Given the description of an element on the screen output the (x, y) to click on. 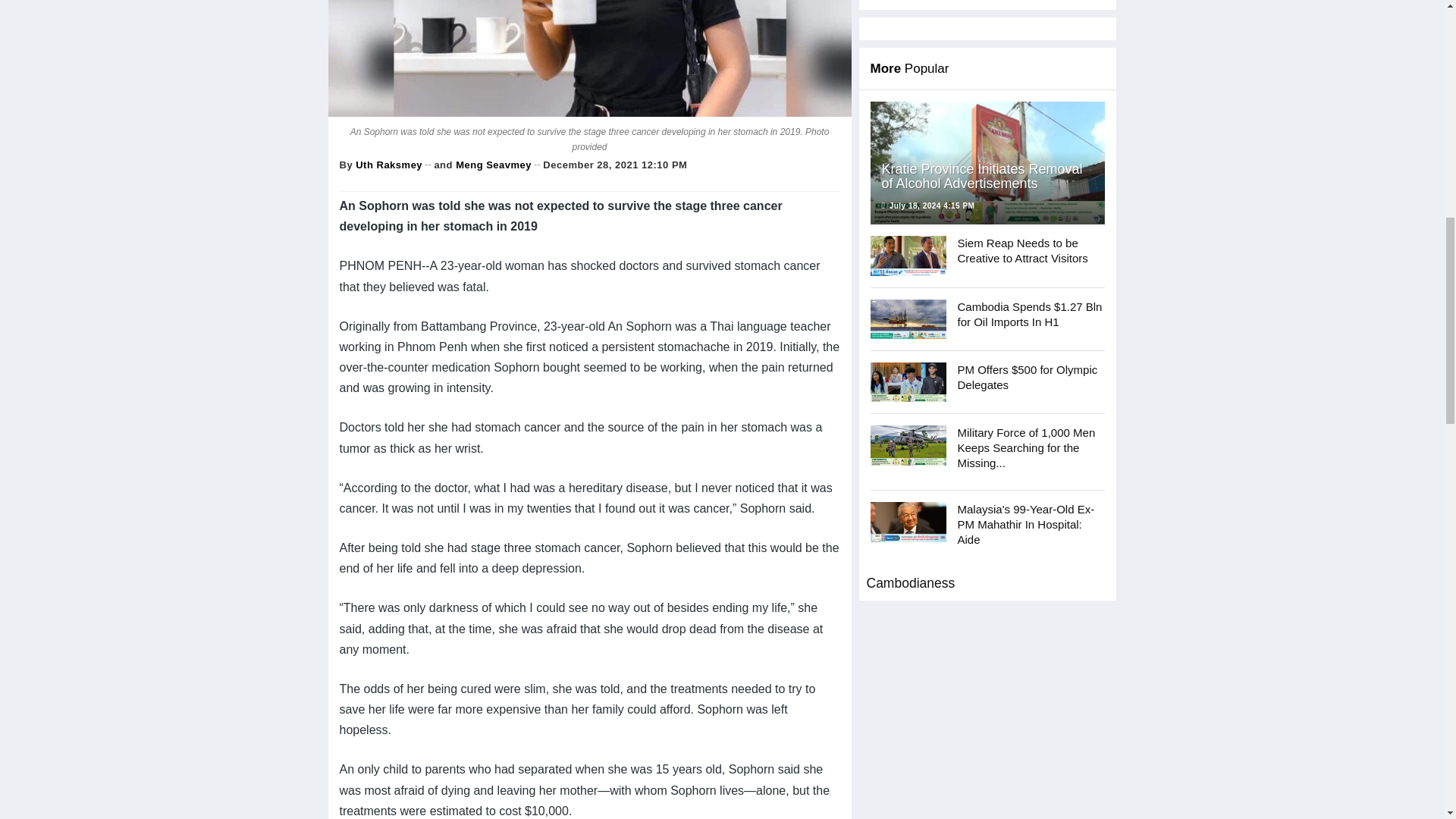
Meng Seavmey (493, 164)
Uth Raksmey (388, 164)
Kratie Province Initiates Removal of Alcohol Advertisements (987, 162)
Woman Shocks Doctors, Beats Cancer (588, 58)
Malaysia's 99-Year-Old Ex-PM Mahathir In Hospital: Aide (908, 521)
Siem Reap Needs to be Creative to Attract Visitors (908, 255)
